Given the description of an element on the screen output the (x, y) to click on. 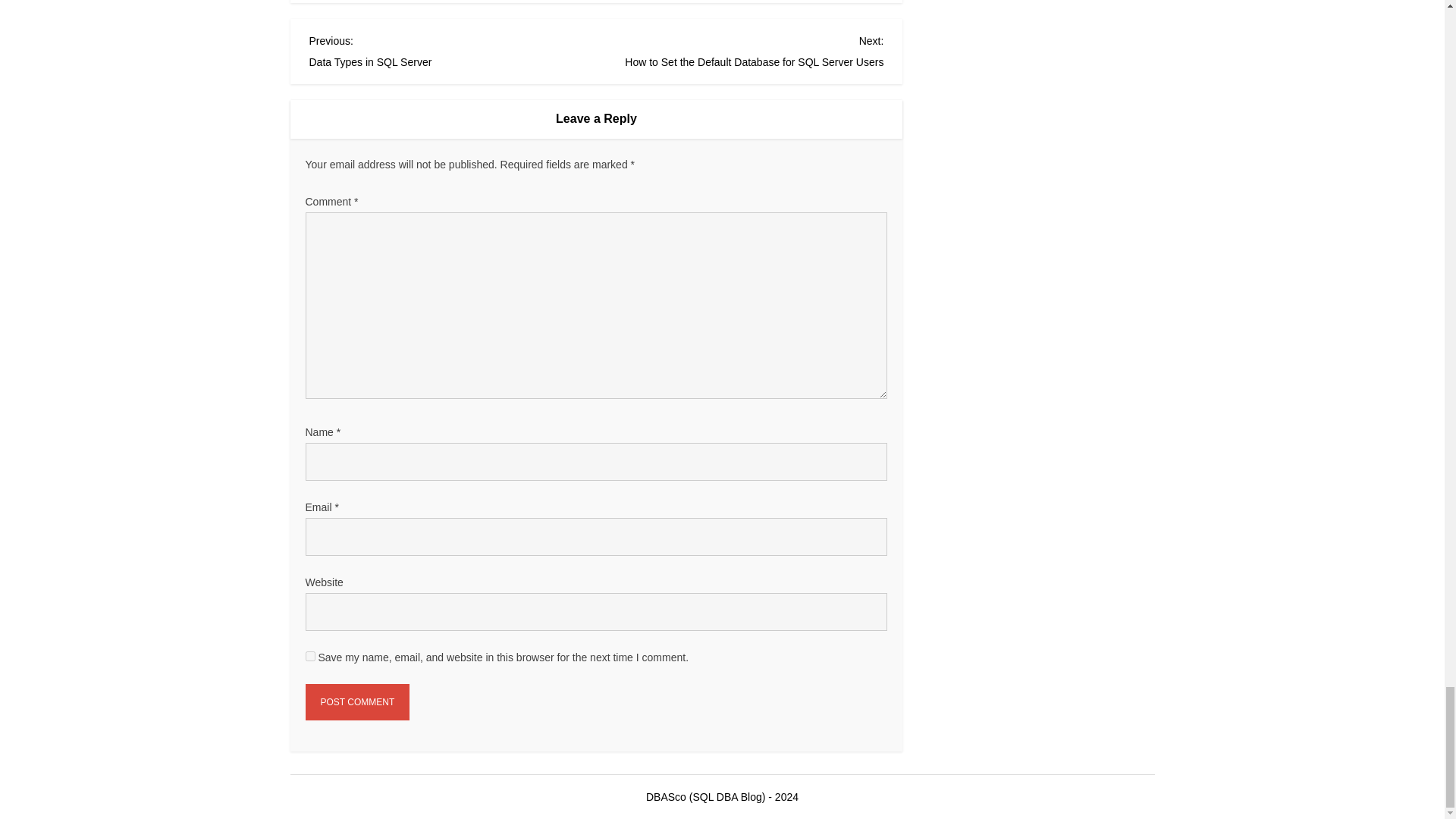
yes (309, 655)
Post Comment (452, 48)
Post Comment (356, 701)
